Given the description of an element on the screen output the (x, y) to click on. 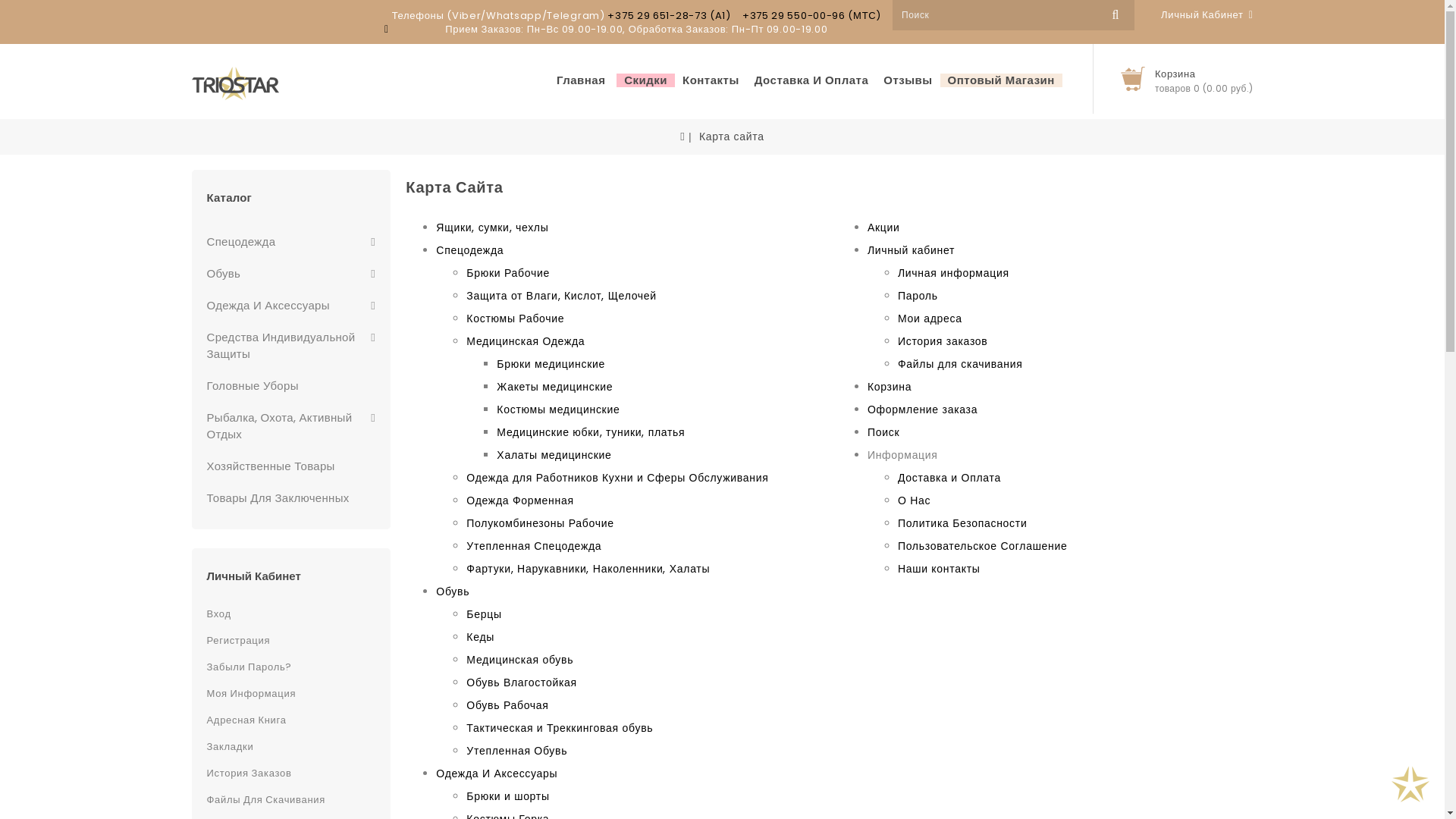
+375 29 651-28-73 (A1) Element type: text (668, 15)
TOP Element type: text (1410, 784)
